Given the description of an element on the screen output the (x, y) to click on. 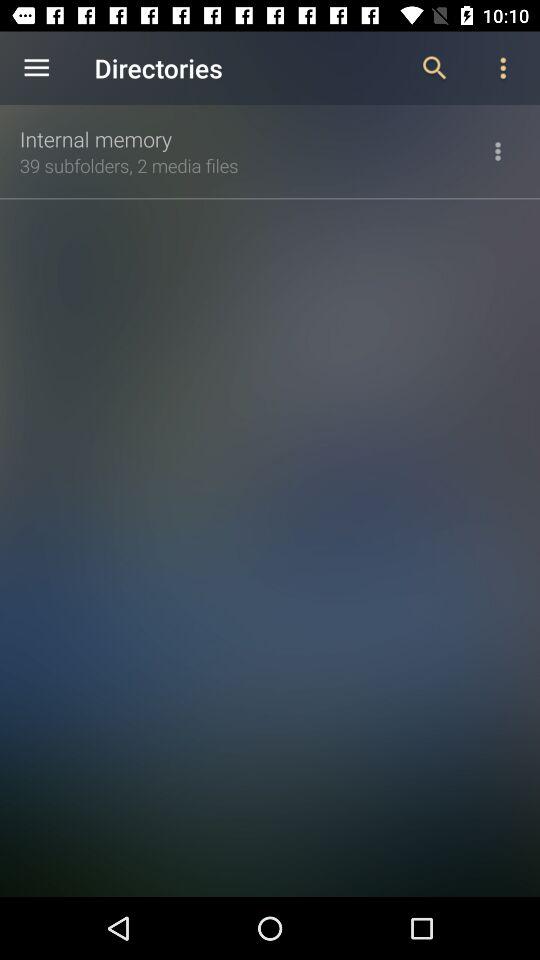
tap icon next to the 39 subfolders 2 icon (498, 151)
